Given the description of an element on the screen output the (x, y) to click on. 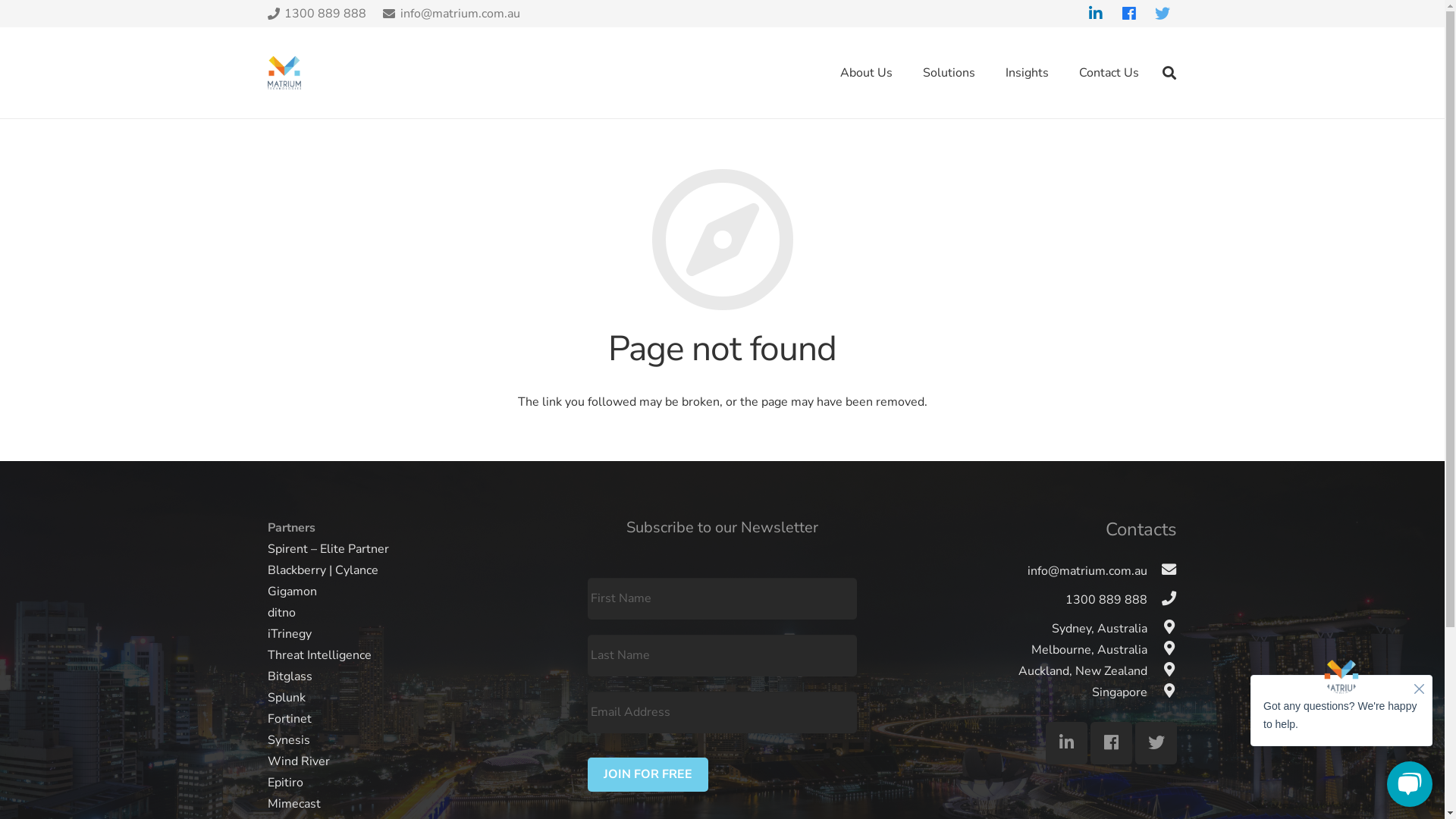
Matrium Technologies Element type: hover (283, 73)
Solutions Element type: text (948, 72)
Singapore Element type: text (1119, 693)
1300 889 888 Element type: text (1106, 604)
Wind River Element type: text (297, 760)
LinkedIn Element type: hover (1066, 742)
Epitiro Element type: text (284, 782)
info@matrium.com.au Element type: text (1087, 575)
Insights Element type: text (1026, 72)
Fortinet Element type: text (288, 718)
ditno Element type: text (280, 612)
Synesis Element type: text (287, 739)
Contact Us Element type: text (1108, 72)
Melbourne, Australia Element type: text (1089, 651)
Sydney, Australia Element type: text (1099, 629)
Splunk Element type: text (285, 697)
Twitter Element type: hover (1155, 742)
Join for Free Element type: text (647, 774)
iTrinegy Element type: text (288, 633)
Blackberry | Cylance Element type: text (321, 569)
Facebook Element type: hover (1111, 742)
Gigamon Element type: text (291, 591)
About Us Element type: text (866, 72)
Threat Intelligence Element type: text (318, 654)
Auckland, New Zealand Element type: text (1082, 672)
Mimecast Element type: text (293, 803)
Bitglass Element type: text (288, 676)
